Given the description of an element on the screen output the (x, y) to click on. 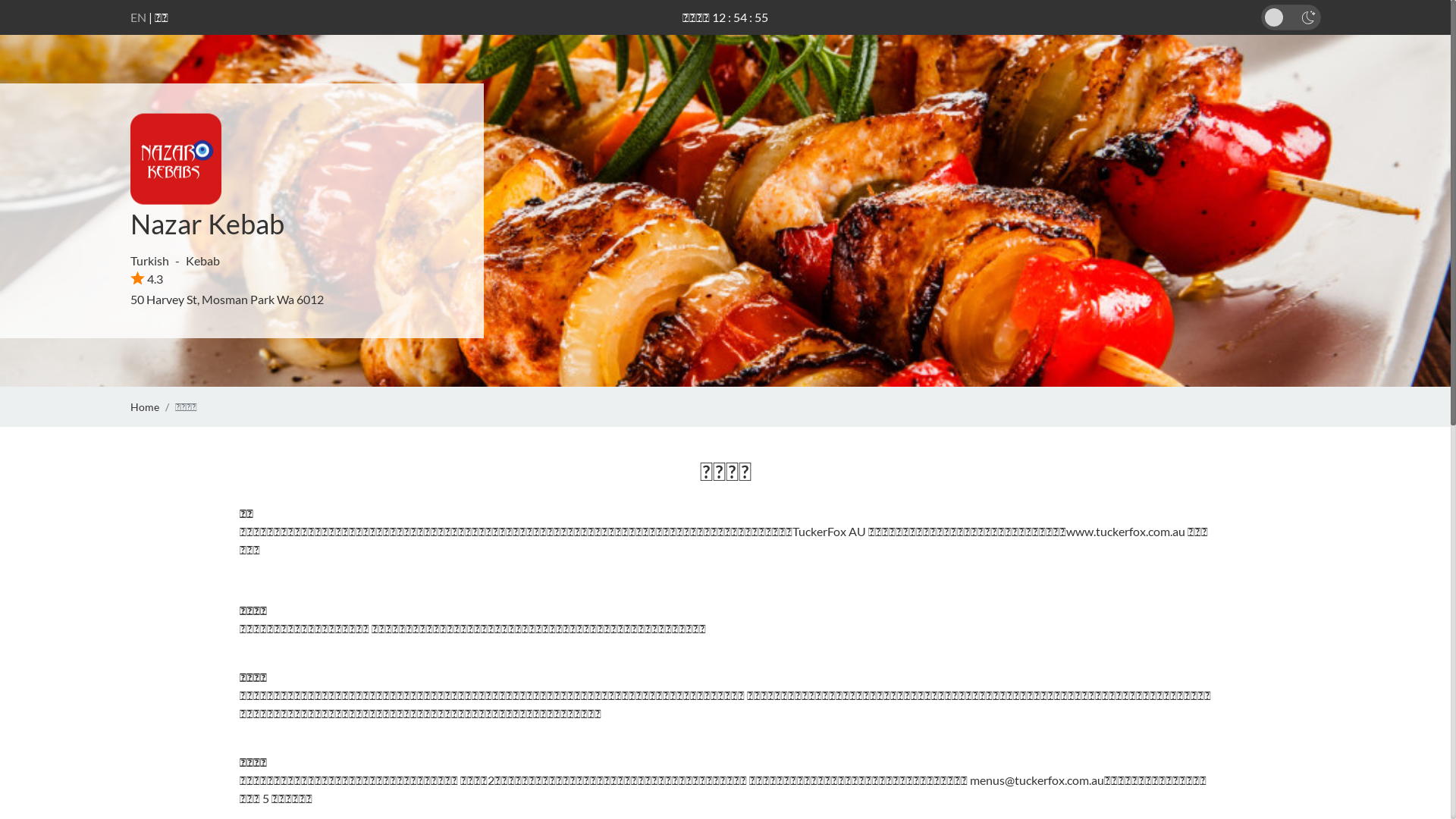
Nazar Kebab Element type: text (207, 223)
EN Element type: text (138, 16)
Home Element type: text (144, 406)
4.3 Element type: text (146, 278)
